Given the description of an element on the screen output the (x, y) to click on. 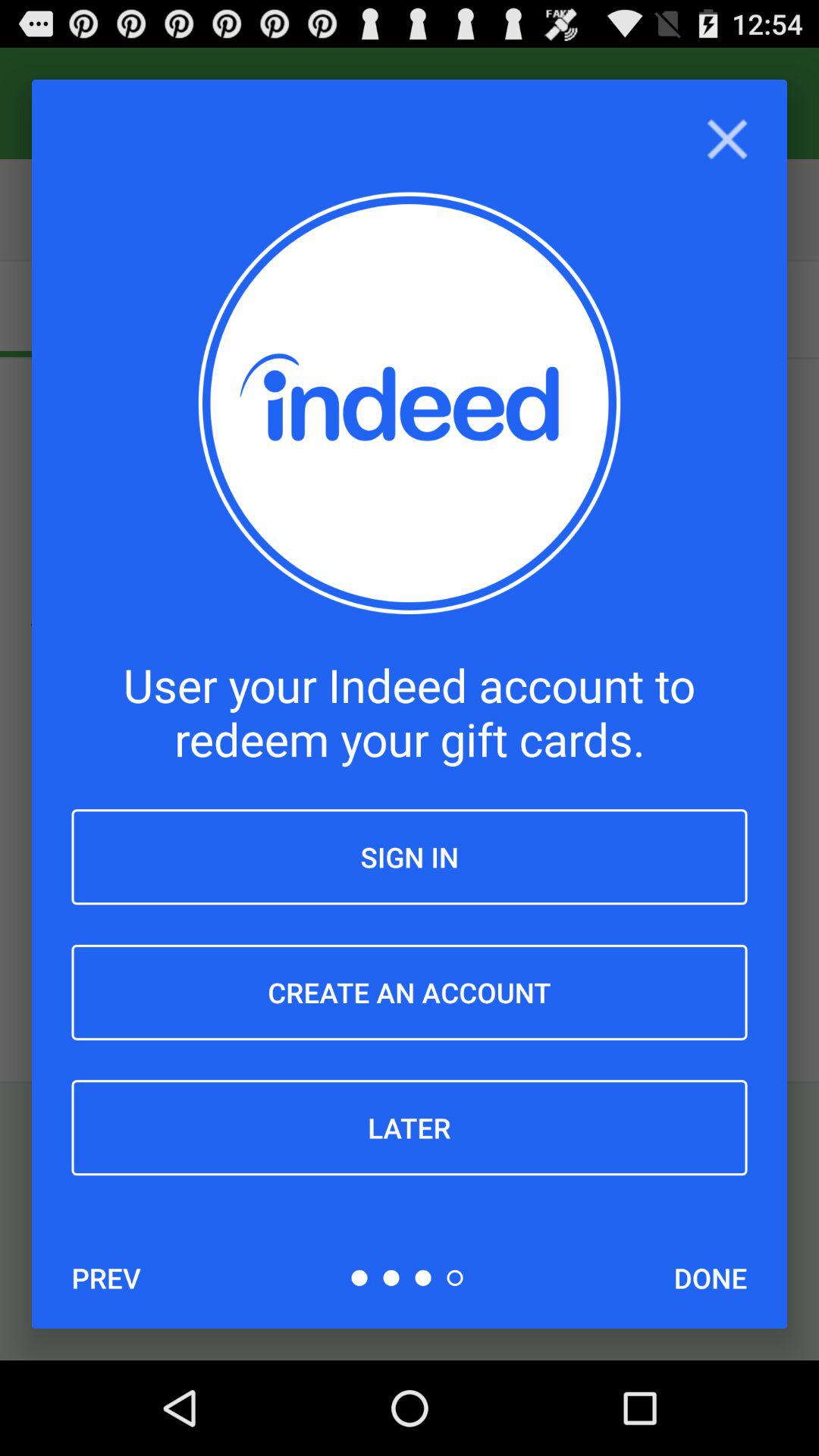
scroll to done (710, 1277)
